Given the description of an element on the screen output the (x, y) to click on. 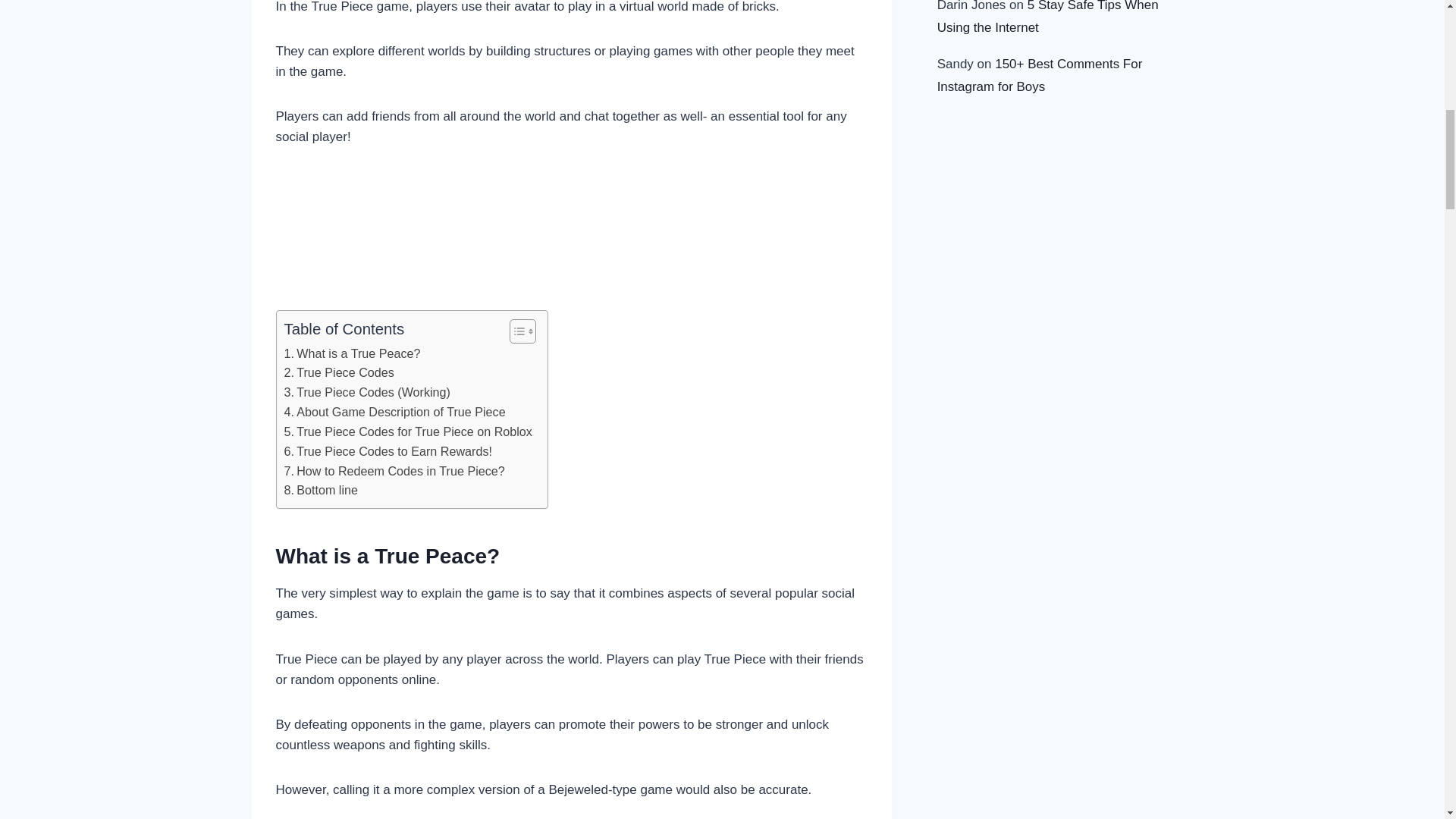
True Piece Codes to Earn Rewards! (387, 451)
Bottom line (319, 490)
How to Redeem Codes in True Piece? (393, 471)
True Piece Codes to Earn Rewards! (387, 451)
True Piece Codes (338, 373)
True Piece Codes for True Piece on Roblox (407, 432)
What is a True Peace?   (354, 353)
True Piece Codes for True Piece on Roblox (407, 432)
How to Redeem Codes in True Piece? (393, 471)
True Piece Codes (338, 373)
Bottom line (319, 490)
About Game Description of True Piece  (395, 412)
